Given the description of an element on the screen output the (x, y) to click on. 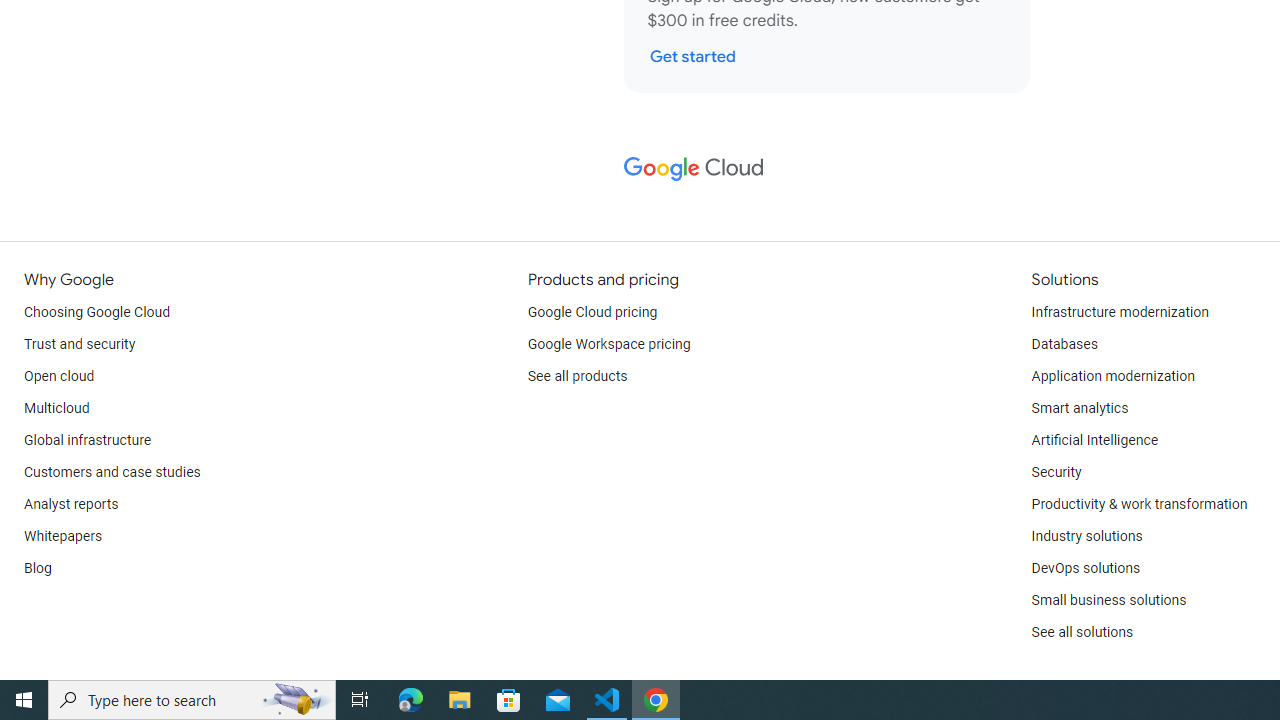
Customers and case studies (112, 472)
Choosing Google Cloud (97, 312)
Blog (38, 568)
Productivity & work transformation (1139, 504)
Open cloud (59, 376)
Global infrastructure (88, 440)
Google Workspace pricing (609, 344)
Analyst reports (71, 504)
Databases (1064, 344)
Smart analytics (1079, 408)
DevOps solutions (1085, 568)
